Given the description of an element on the screen output the (x, y) to click on. 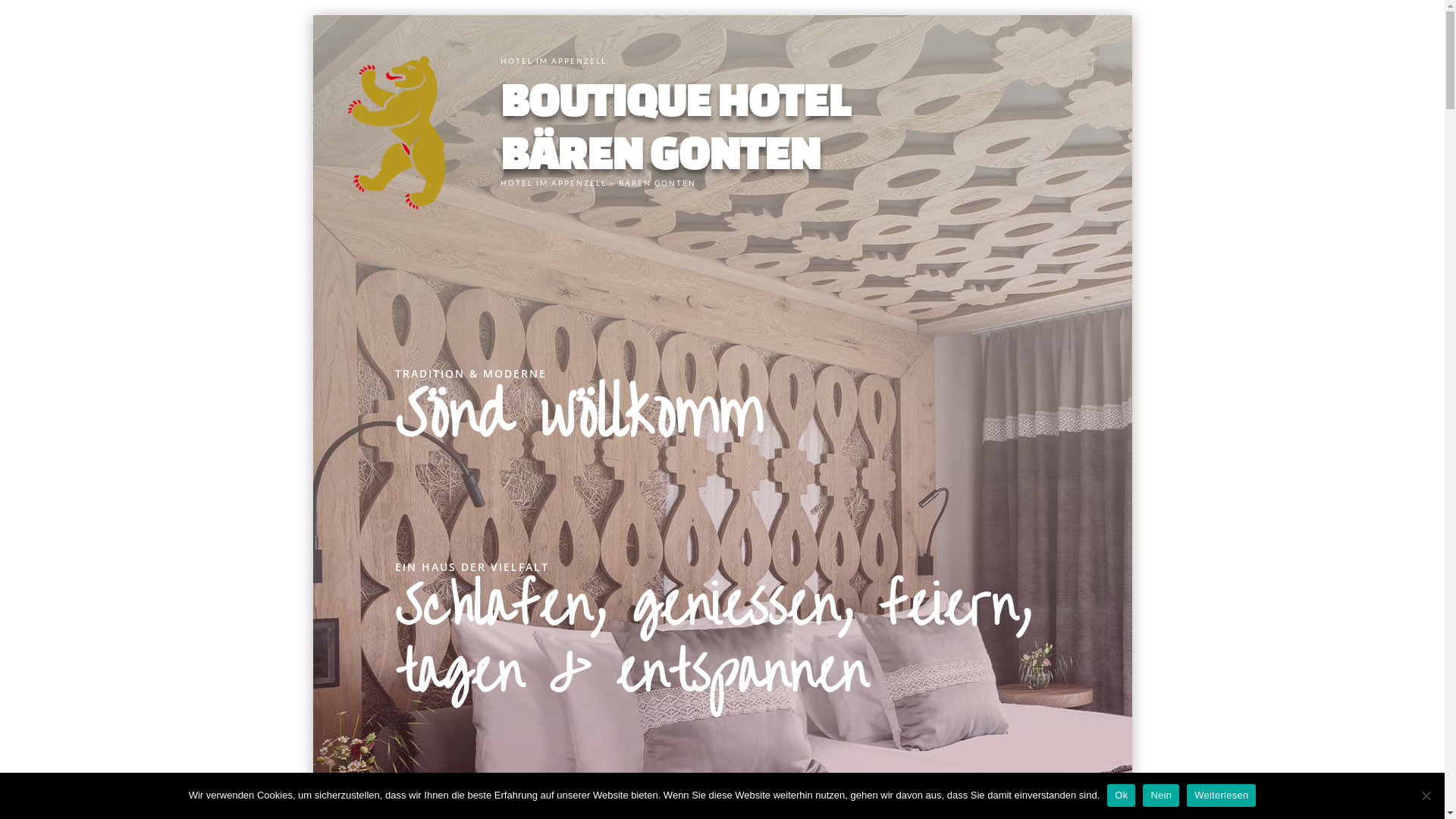
Schlafen, geniessen, feiern, tagen & entspannen Element type: text (712, 639)
Nein Element type: hover (1425, 795)
Weiterlesen Element type: text (1220, 795)
Ok Element type: text (1121, 795)
Nein Element type: text (1160, 795)
